Given the description of an element on the screen output the (x, y) to click on. 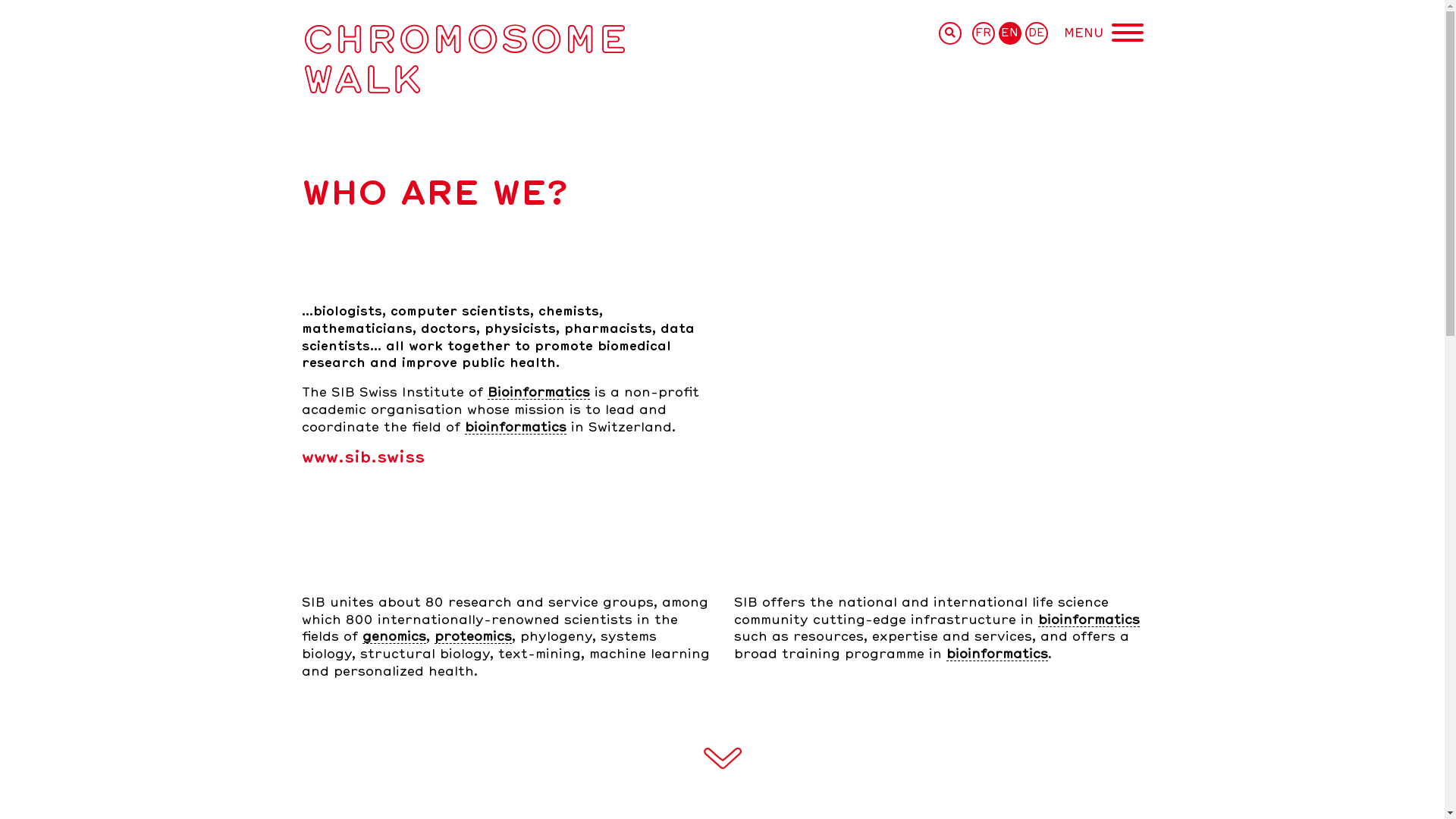
www.sib.swiss Element type: text (362, 457)
CHROM
OSOME
WALK Element type: text (463, 57)
FR Element type: text (983, 32)
DE Element type: text (1036, 32)
EN Element type: text (1008, 32)
